Given the description of an element on the screen output the (x, y) to click on. 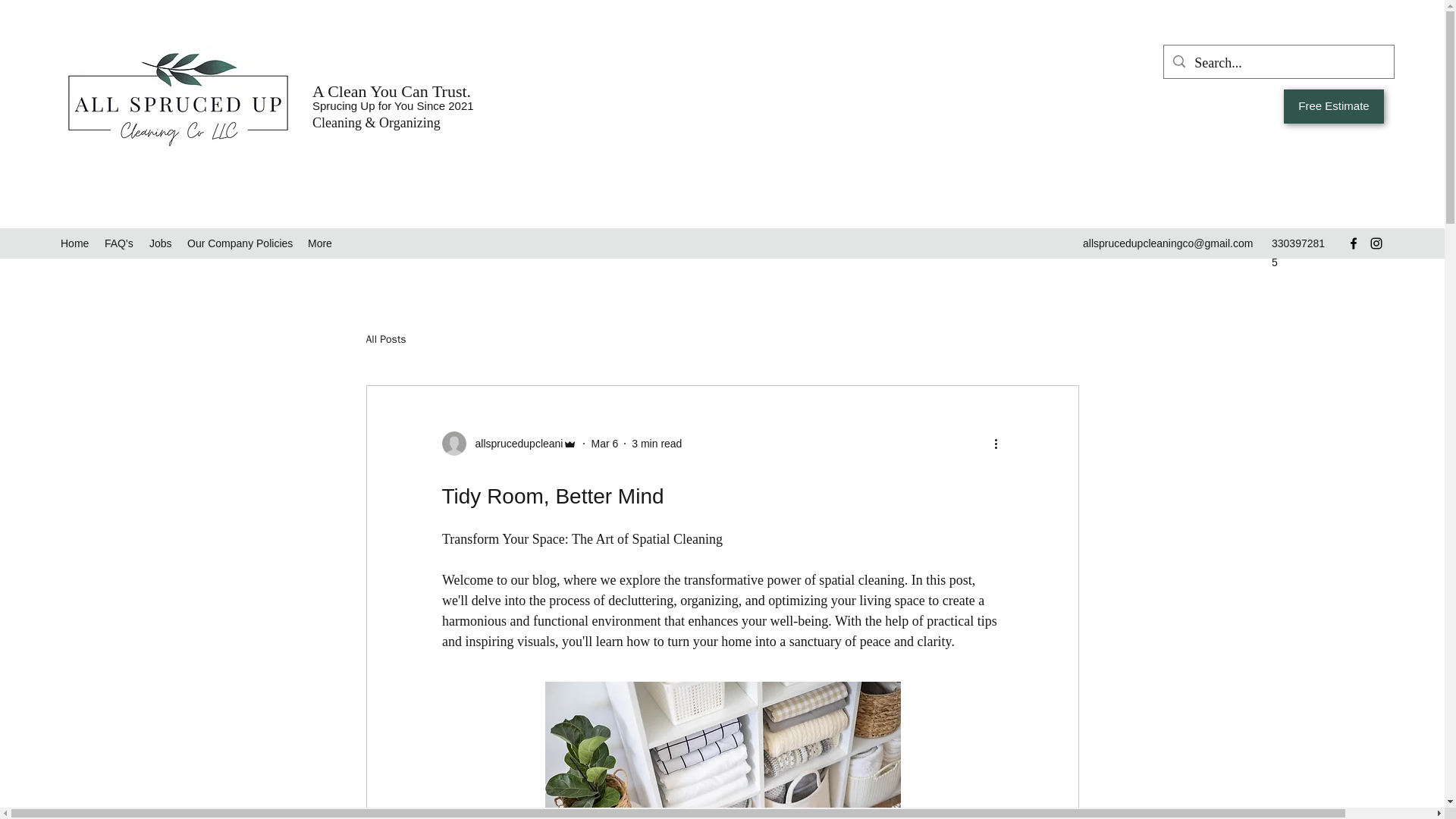
FAQ's (119, 242)
Home (74, 242)
3 min read (656, 443)
Free Estimate (1334, 106)
All Posts (385, 339)
allsprucedupcleani (508, 443)
allsprucedupcleani (513, 443)
Mar 6 (604, 443)
Our Company Policies (239, 242)
Jobs (160, 242)
